Given the description of an element on the screen output the (x, y) to click on. 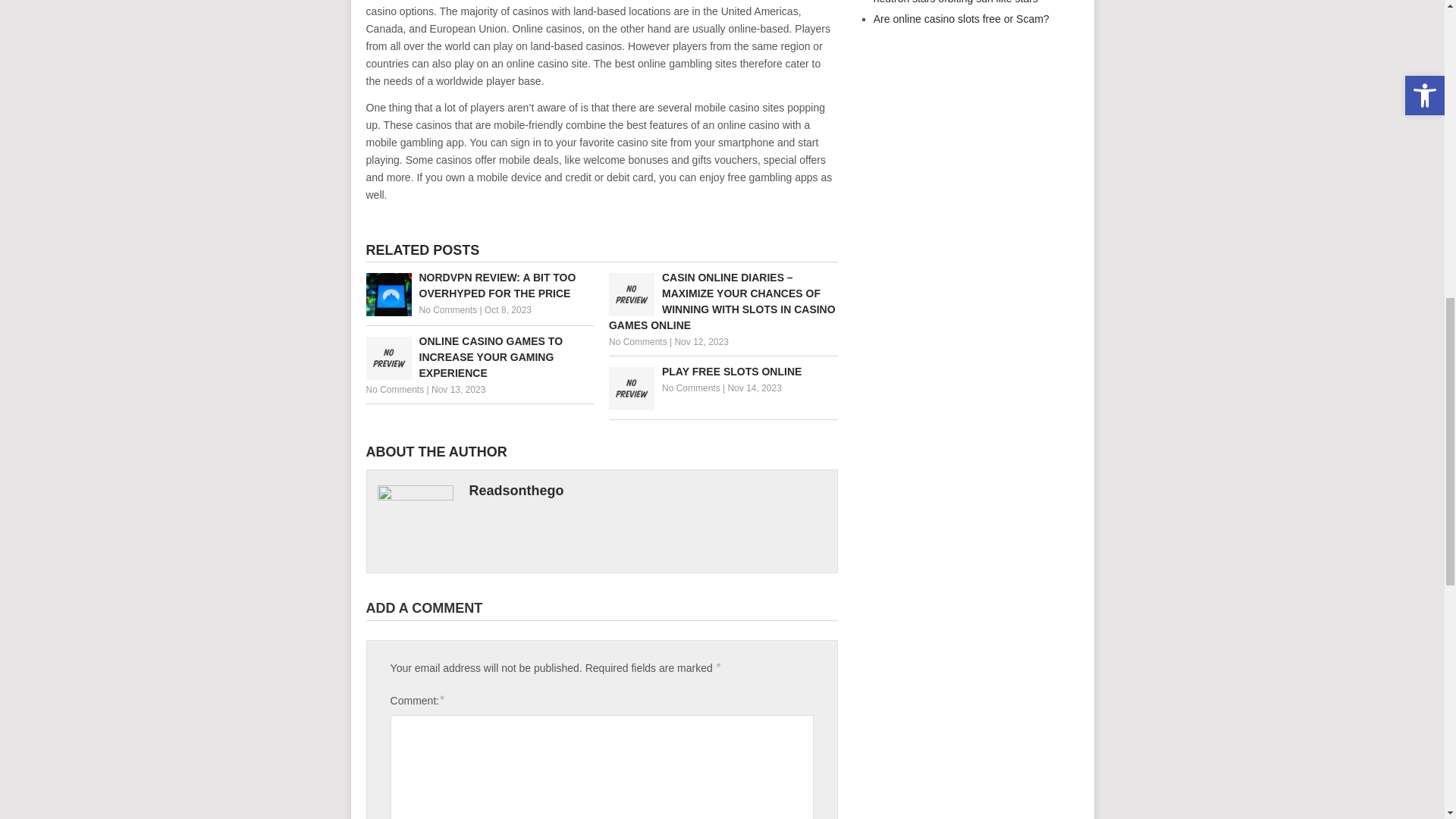
NordVPN review: A bit too overhyped for the price (479, 286)
No Comments (637, 341)
No Comments (691, 388)
NORDVPN REVIEW: A BIT TOO OVERHYPED FOR THE PRICE (479, 286)
ONLINE CASINO GAMES TO INCREASE YOUR GAMING EXPERIENCE (479, 357)
No Comments (394, 389)
Online Casino Games to Increase Your Gaming Experience (479, 357)
No Comments (448, 309)
Play Free Slots Online (723, 371)
PLAY FREE SLOTS ONLINE (723, 371)
